Given the description of an element on the screen output the (x, y) to click on. 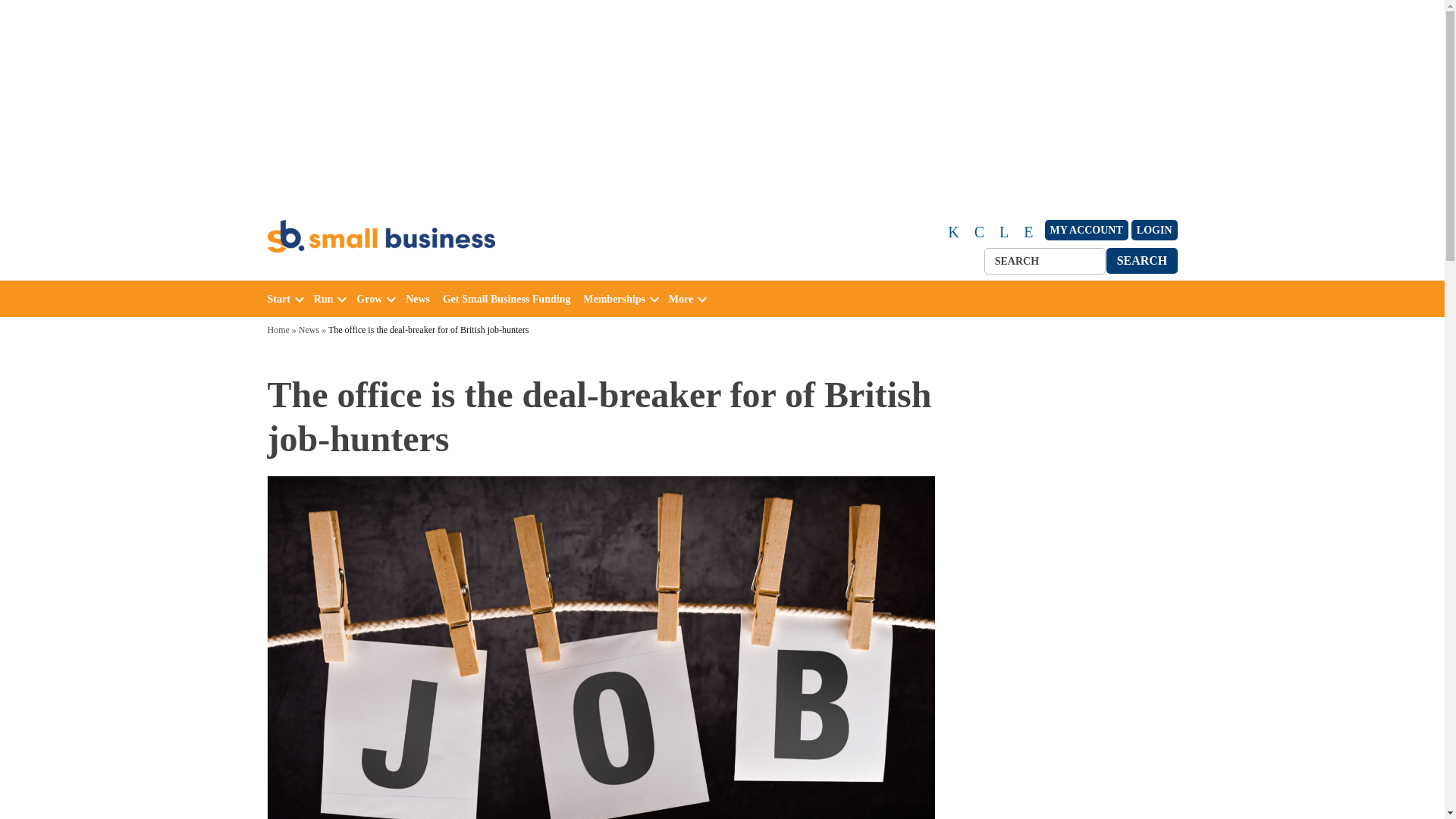
Memberships (614, 298)
SEARCH (1142, 260)
Start (277, 298)
3rd party ad content (721, 101)
Grow (368, 298)
Run (323, 298)
Small Business UK (340, 270)
Get Small Business Funding (510, 298)
MY ACCOUNT (1086, 230)
LOGIN (1154, 230)
News (422, 298)
